Given the description of an element on the screen output the (x, y) to click on. 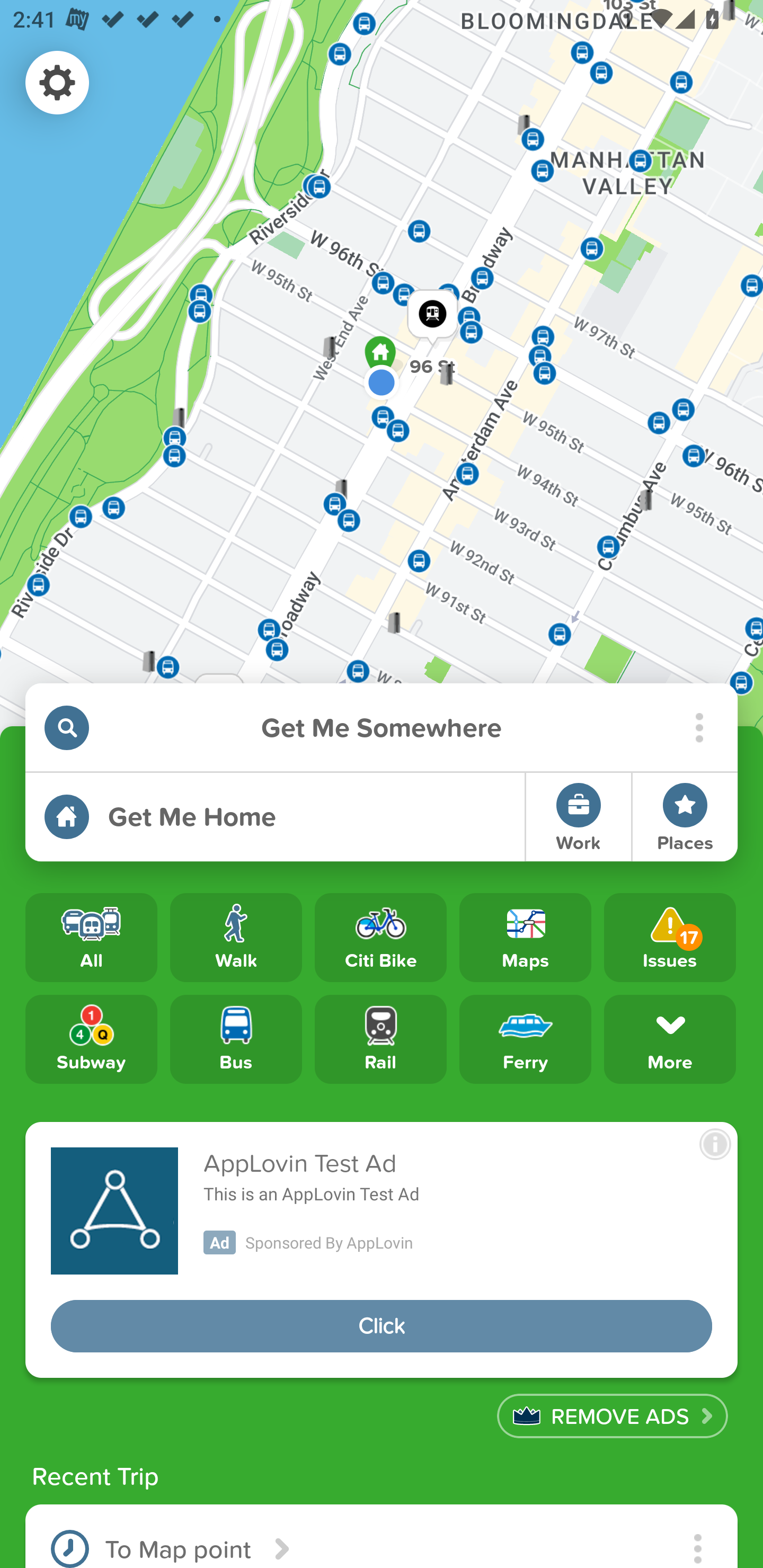
Maps (525, 937)
